Given the description of an element on the screen output the (x, y) to click on. 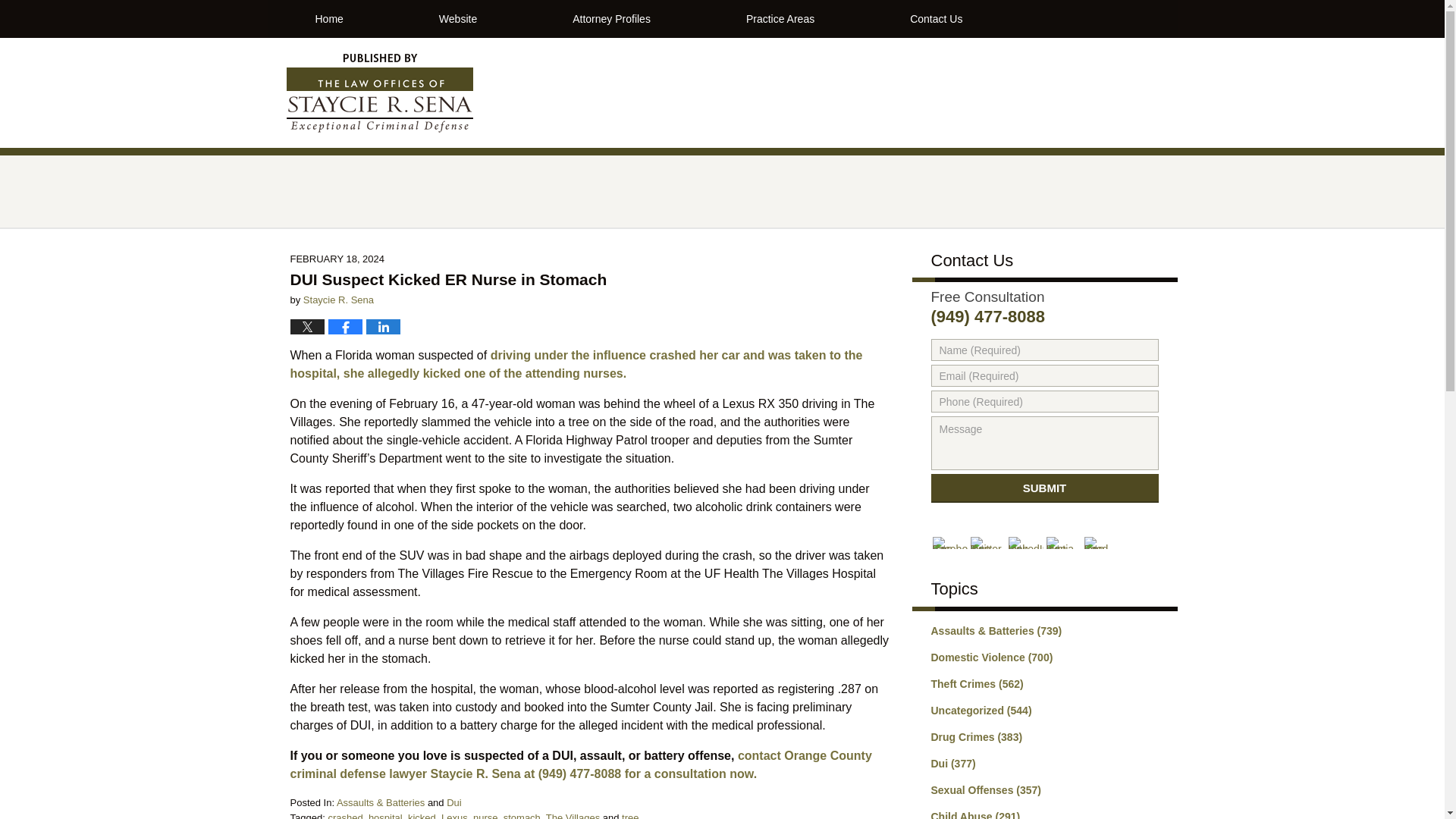
hospital (385, 815)
Practice Areas (779, 18)
The Orange County Criminal Lawyer Blog (379, 93)
The Villages (572, 815)
Twitter (988, 542)
Justia (1064, 542)
View all posts tagged with crashed (344, 815)
View all posts tagged with tree (630, 815)
LinkedIn (1026, 542)
Home (328, 18)
